Given the description of an element on the screen output the (x, y) to click on. 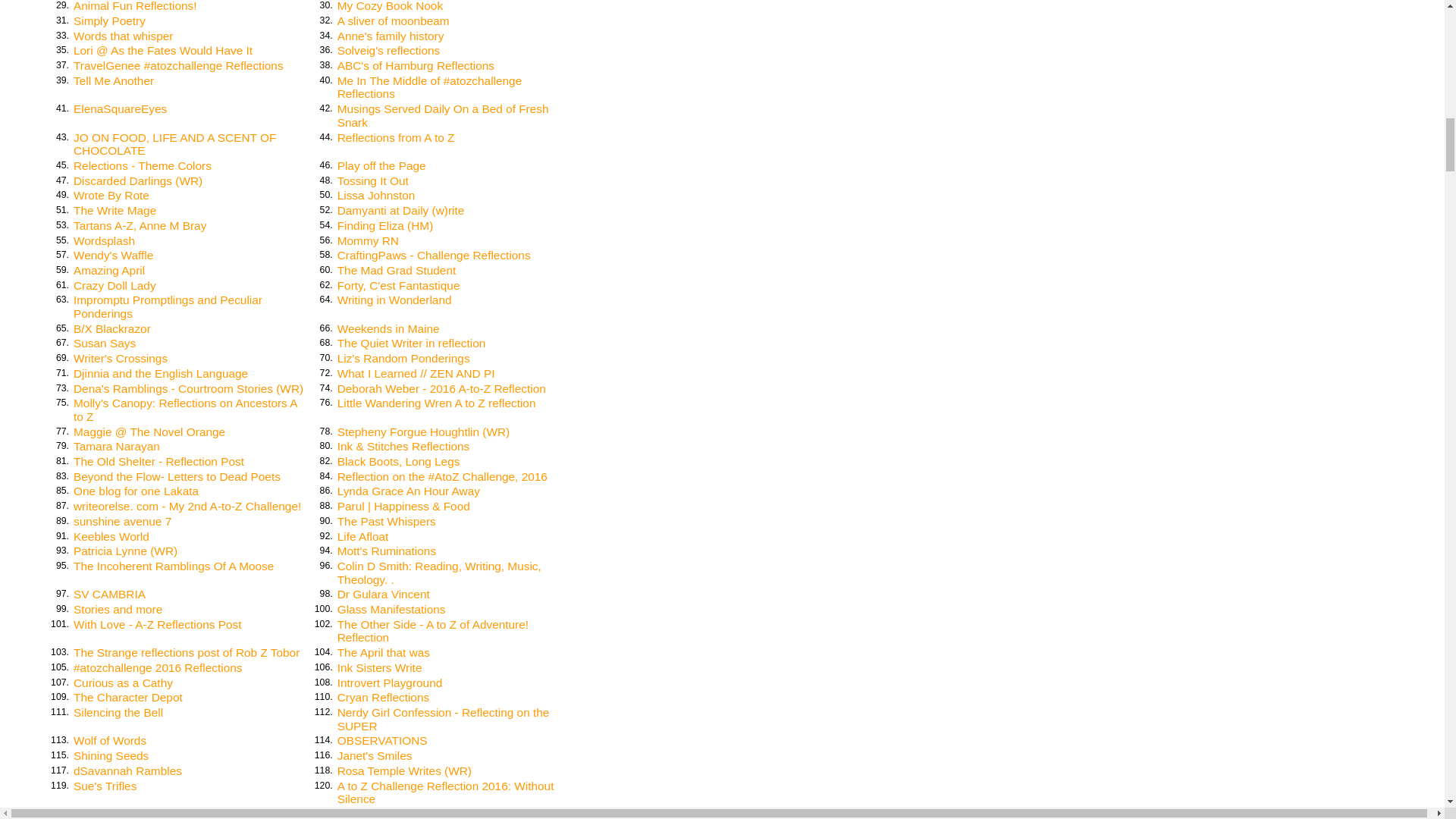
My Cozy Book Nook (389, 6)
Animal Fun Reflections! (135, 6)
Simply Poetry (109, 20)
